Given the description of an element on the screen output the (x, y) to click on. 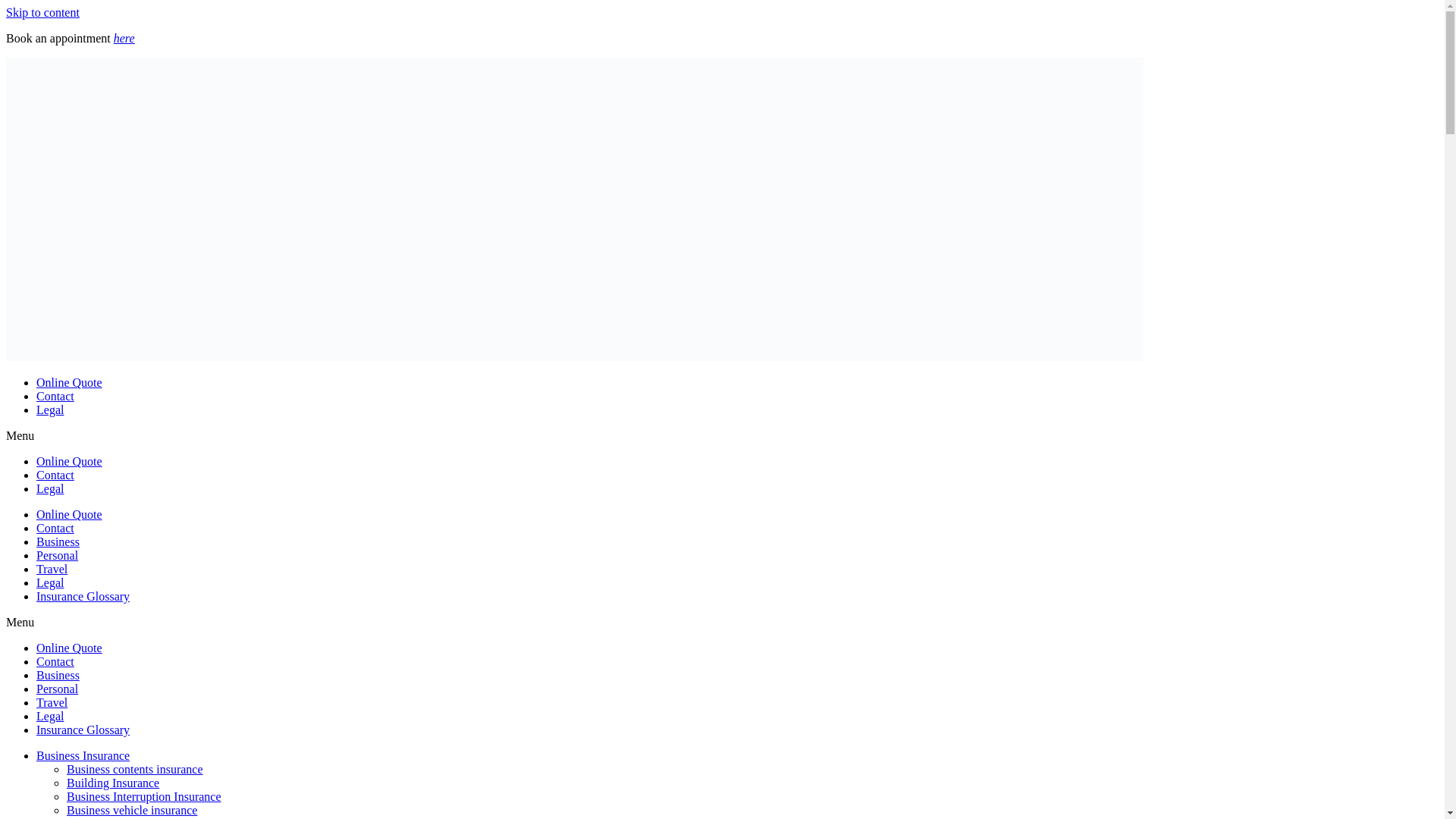
Personal (57, 554)
Building Insurance (112, 782)
Travel (51, 702)
Online Quote (68, 513)
Contact (55, 395)
Contact (55, 527)
Insurance Glossary (82, 595)
Online Quote (68, 461)
Insurance Glossary (82, 729)
Carriers Liability Insurance (133, 818)
Travel (51, 568)
Online Quote (68, 382)
Legal (50, 409)
Business (58, 675)
Business (58, 541)
